Given the description of an element on the screen output the (x, y) to click on. 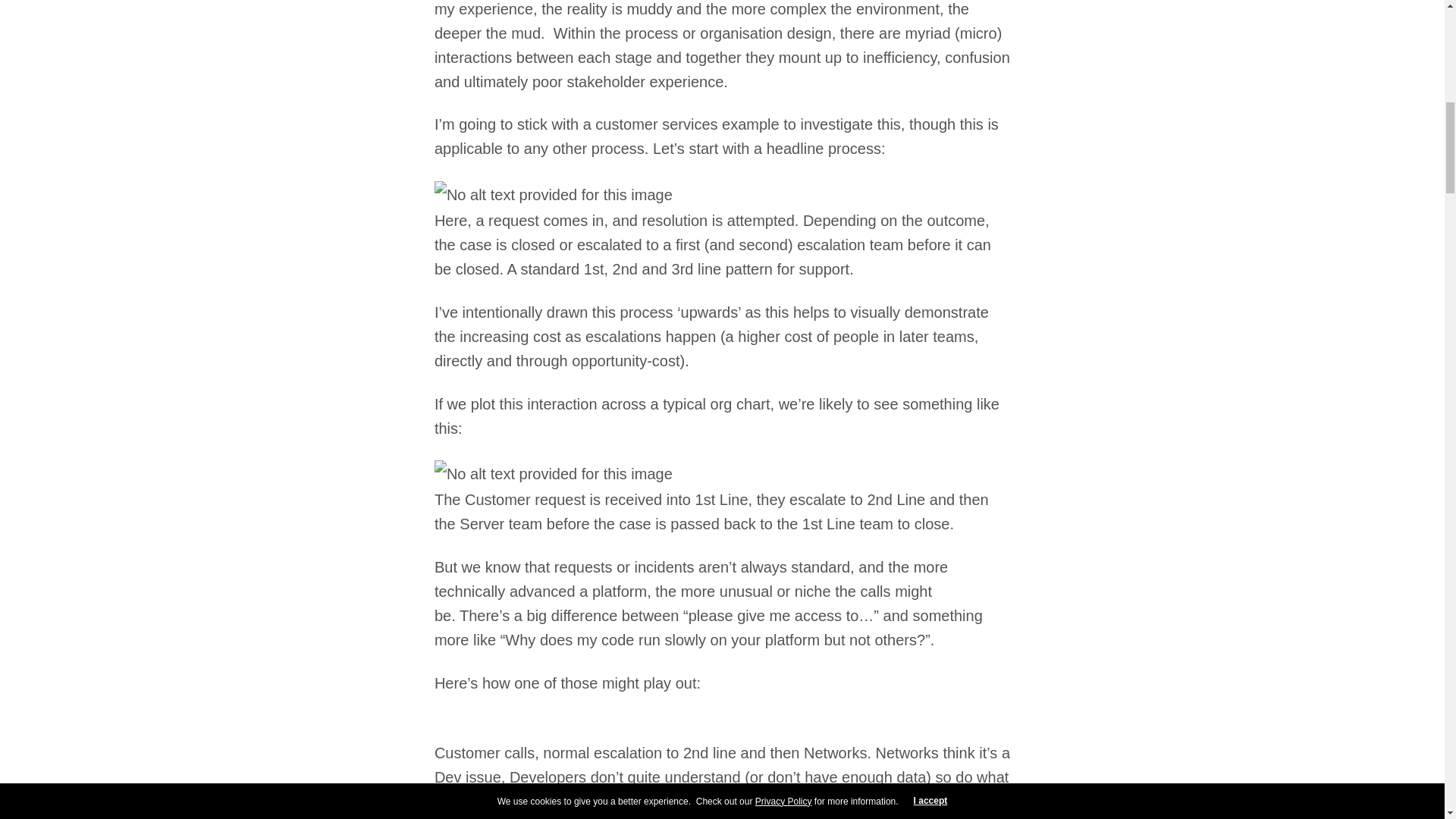
Share (722, 29)
